Given the description of an element on the screen output the (x, y) to click on. 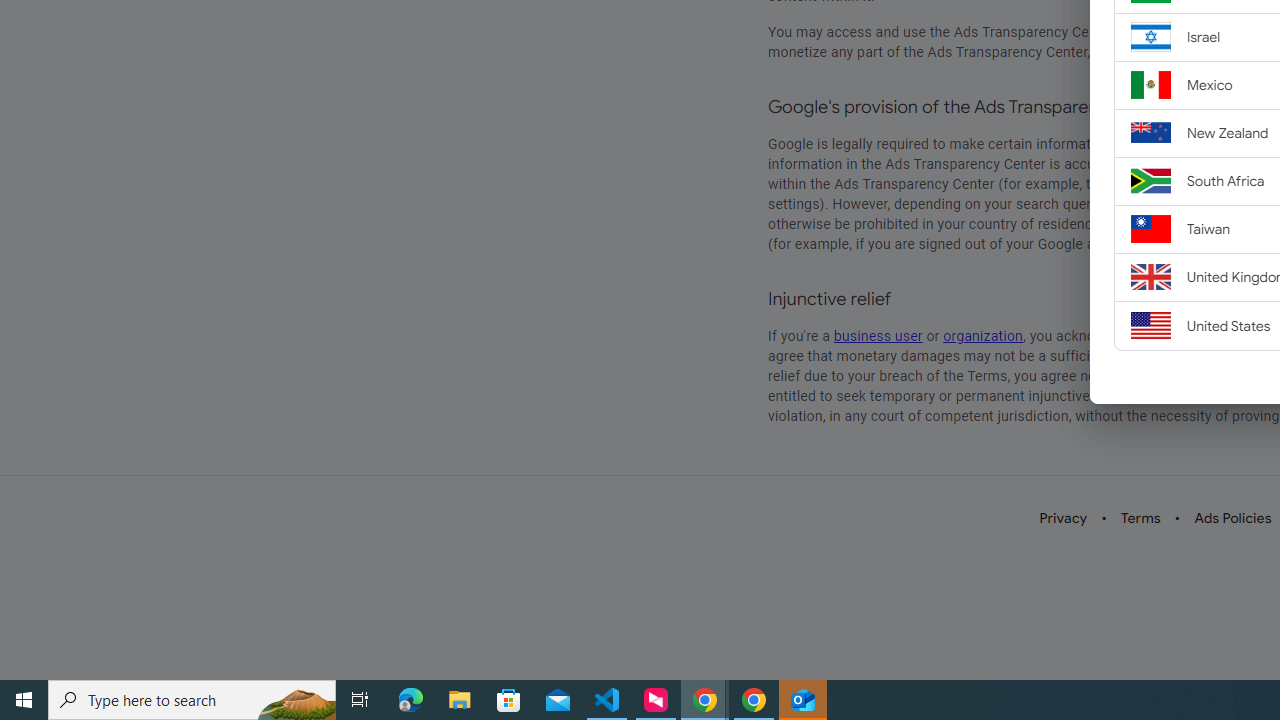
organization (983, 336)
business user (877, 336)
Ads Policies (1233, 518)
